Given the description of an element on the screen output the (x, y) to click on. 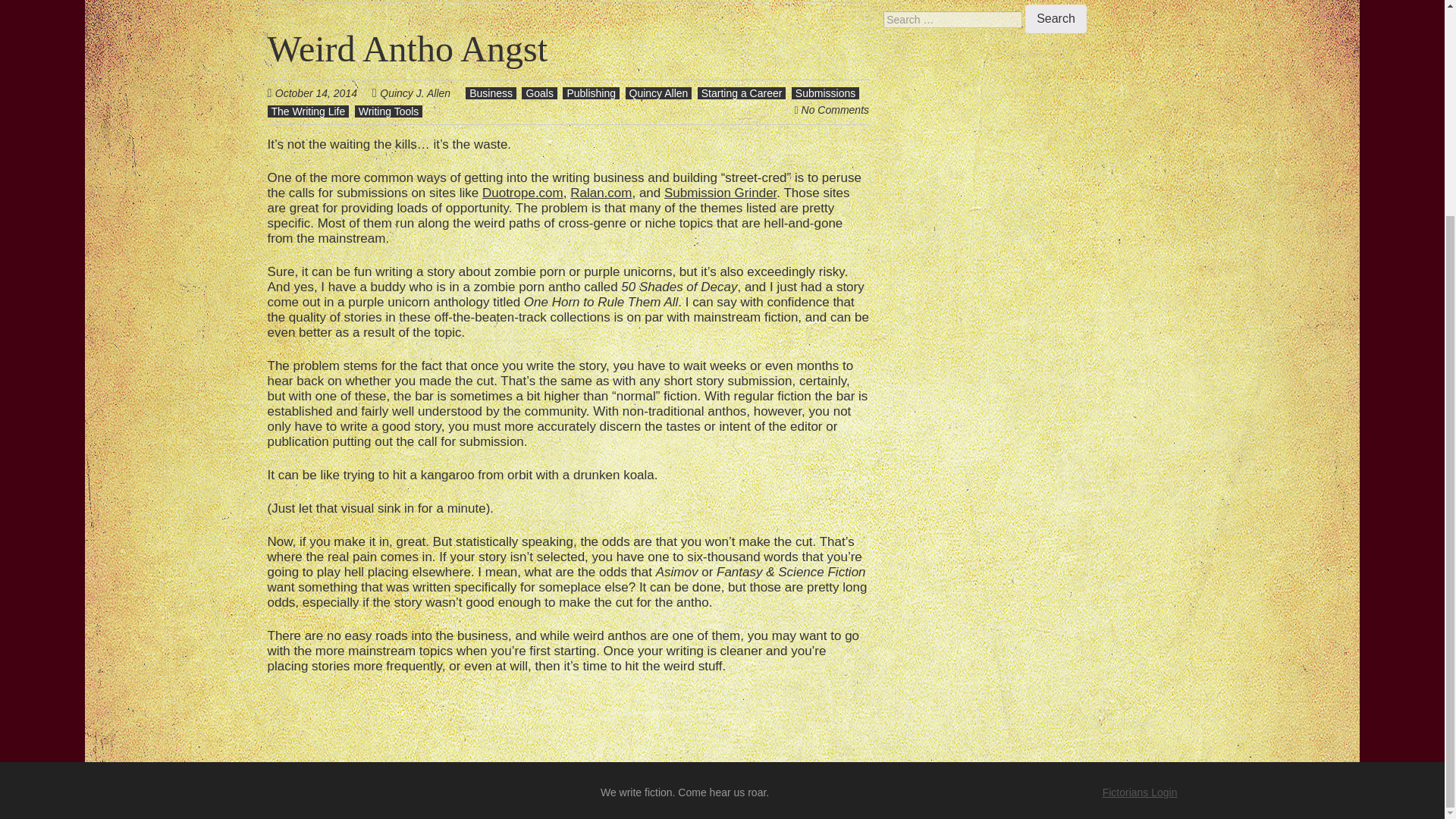
No Comments (835, 110)
The Writing Life (307, 111)
Search (1055, 18)
Publishing (591, 92)
Quincy Allen (657, 92)
Permalink to Weird Antho Angst (406, 48)
Quincy J. Allen (414, 92)
October 14, 2014 (323, 92)
Ralan.com (600, 192)
Submissions (825, 92)
